Given the description of an element on the screen output the (x, y) to click on. 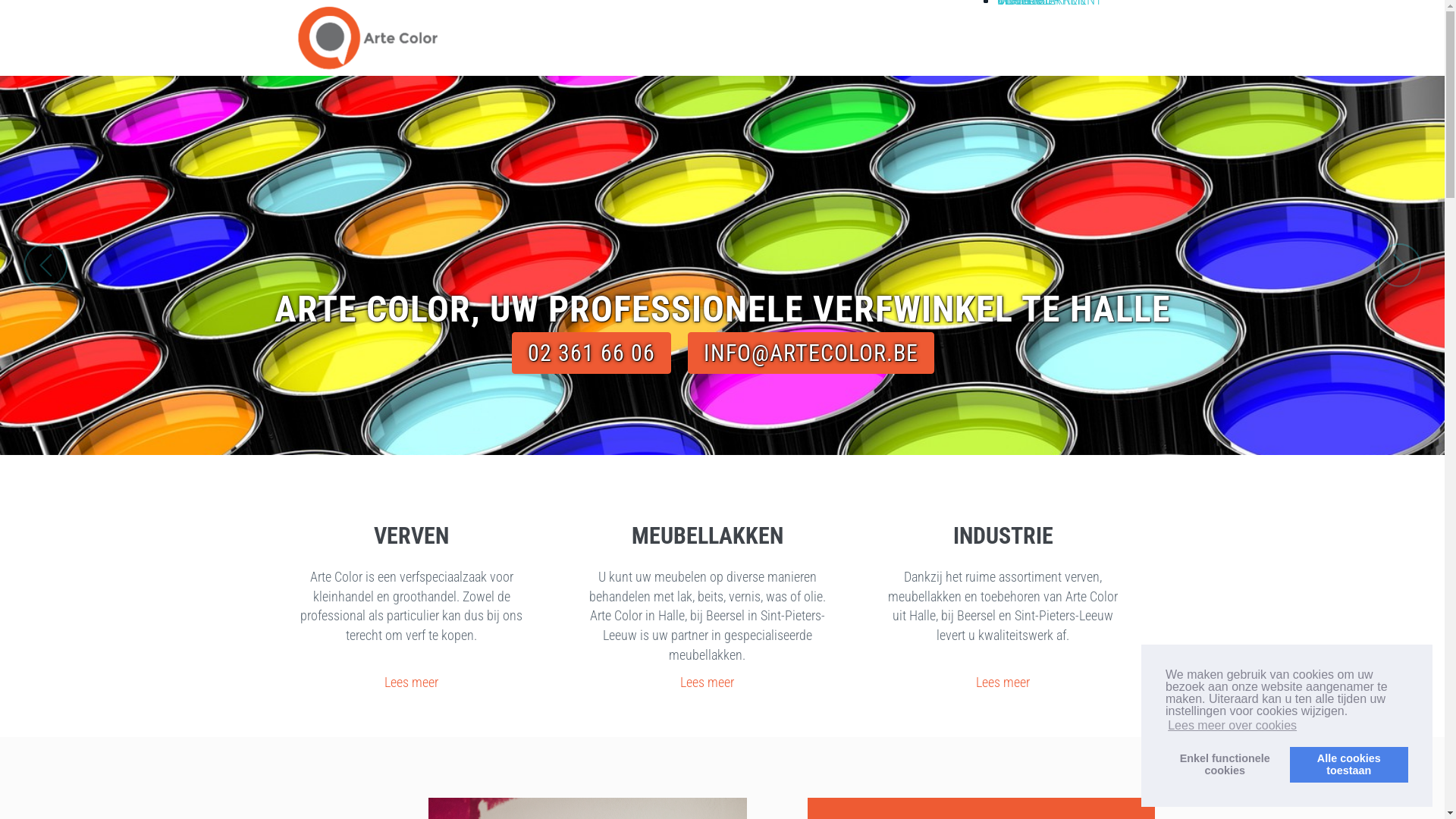
INFO@ARTECOLOR.BE Element type: text (810, 352)
Lees meer Element type: text (707, 682)
Lees meer Element type: text (1002, 682)
Lees meer over cookies Element type: text (1232, 725)
02 361 66 06 Element type: text (590, 352)
Enkel functionele
cookies Element type: text (1224, 764)
Lees meer Element type: text (411, 682)
Alle cookies
toestaan Element type: text (1348, 764)
